Given the description of an element on the screen output the (x, y) to click on. 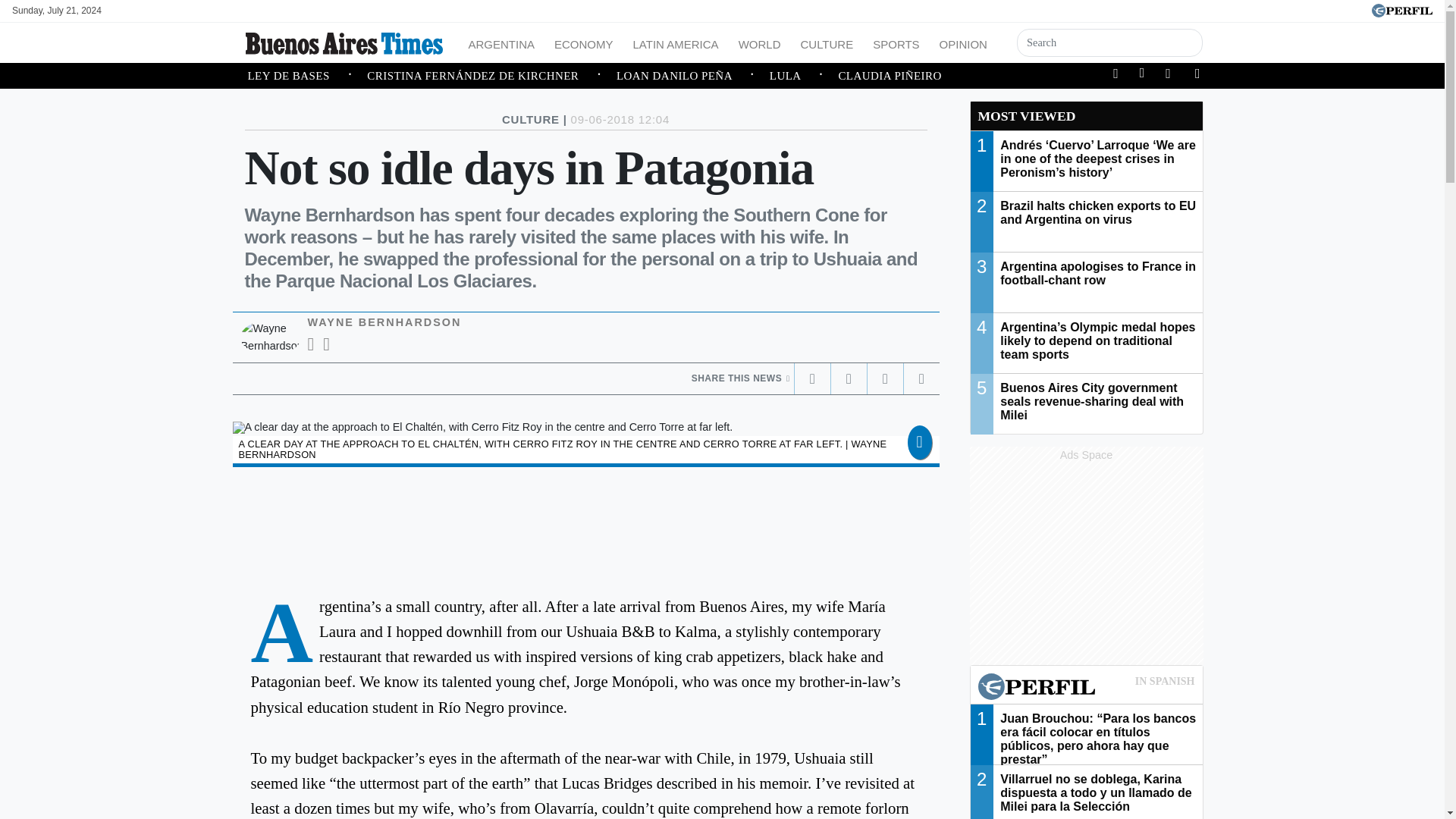
OPINION (962, 42)
ARGENTINA (502, 42)
Sports (895, 42)
CULTURE (826, 42)
Argentina (502, 42)
Culture (826, 42)
World (759, 42)
LULA (804, 75)
ECONOMY (584, 42)
LATIN AMERICA (676, 42)
WAYNE BERNHARDSON (384, 322)
SPORTS (895, 42)
